Given the description of an element on the screen output the (x, y) to click on. 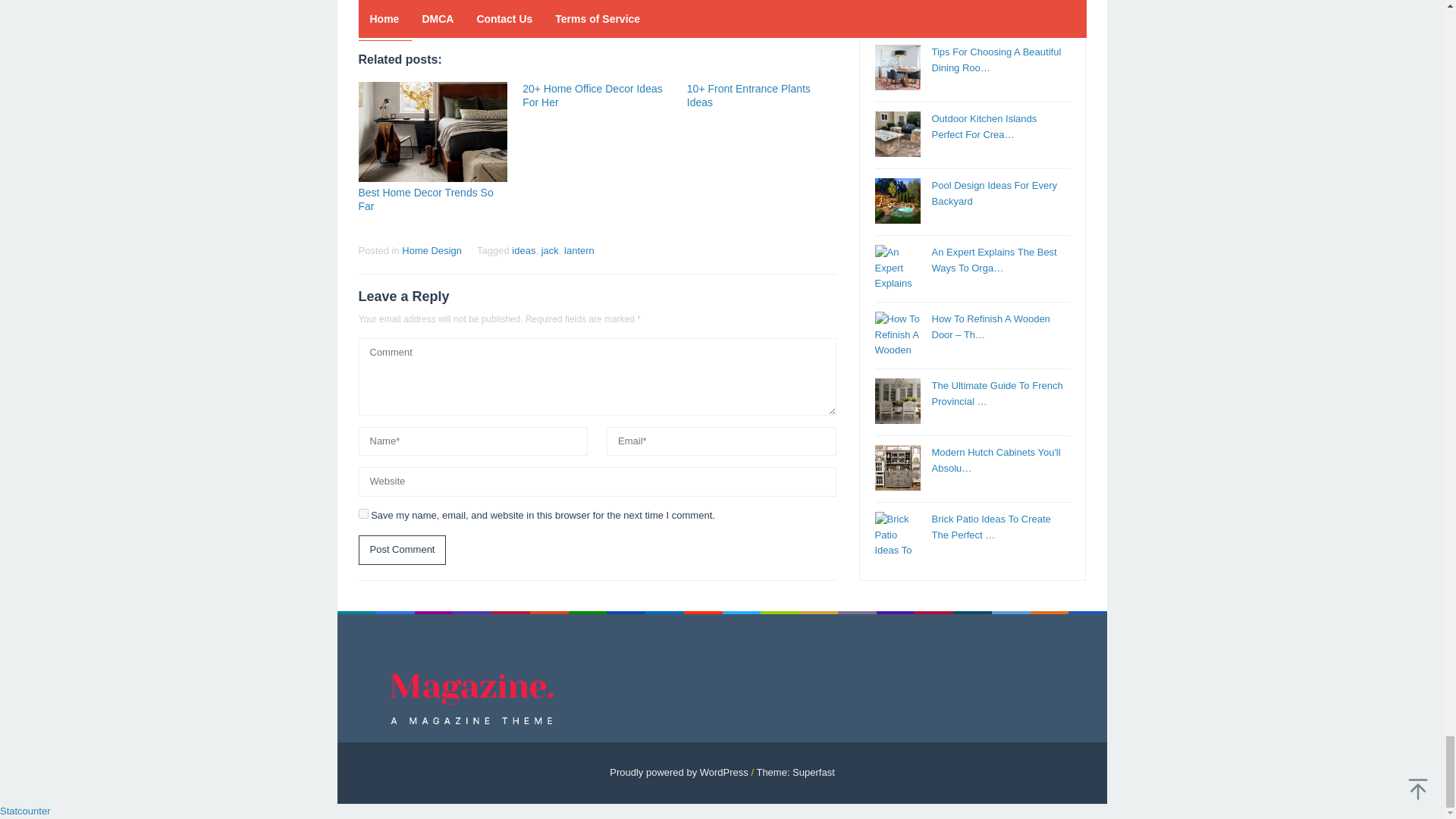
Theme: Superfast (794, 772)
Permalink to: Best Home Decor Trends So Far (432, 130)
Statcounter (25, 809)
Home Design (431, 250)
Best Home Decor Trends So Far (425, 199)
Post Comment (401, 550)
Whatsapp (475, 13)
Tweet this (396, 13)
lantern (579, 250)
jack (550, 250)
yes (363, 513)
Telegram Share (449, 13)
Share this (369, 13)
ideas (523, 250)
Proudly powered by WordPress (679, 772)
